Given the description of an element on the screen output the (x, y) to click on. 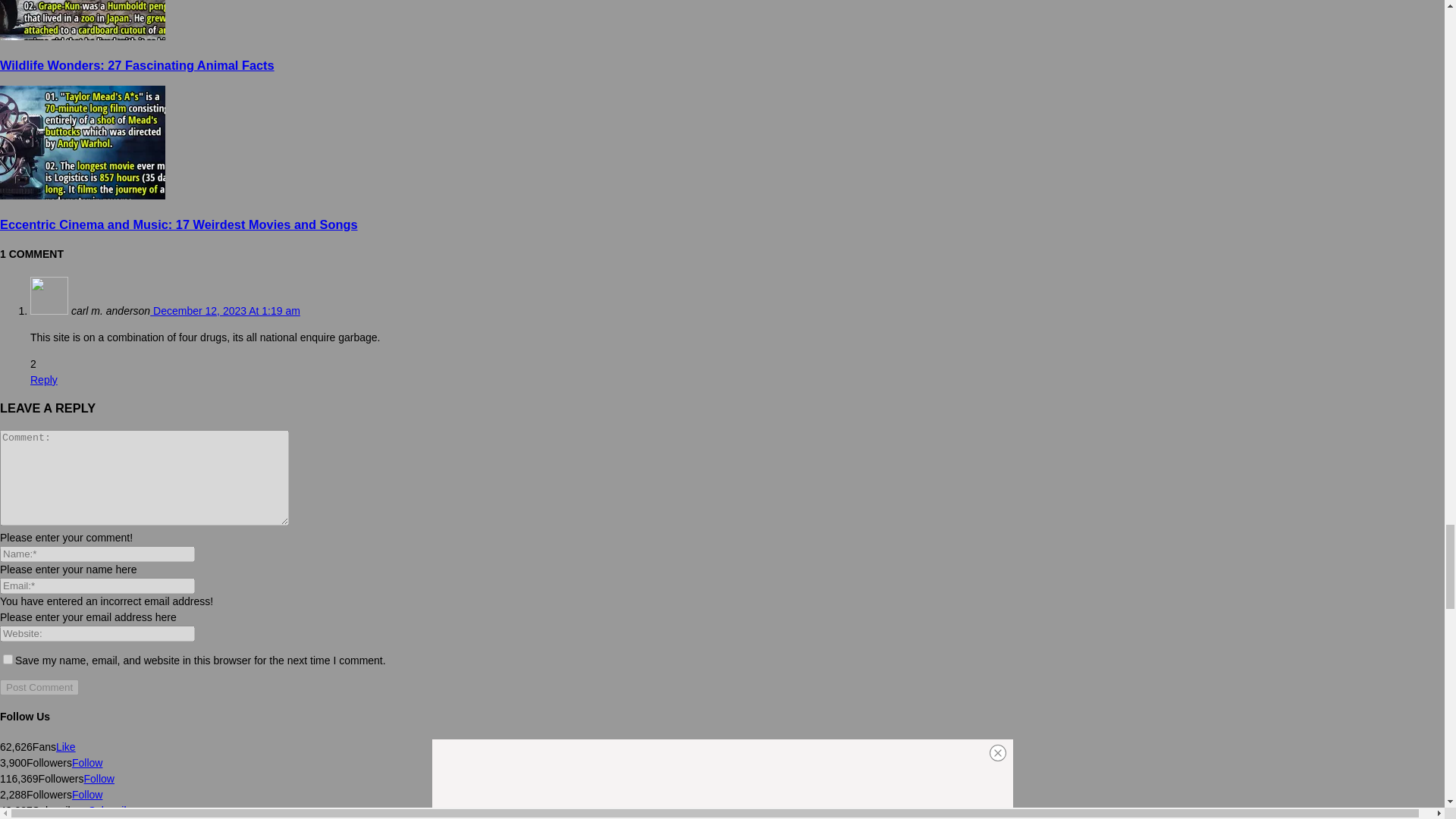
yes (7, 659)
Post Comment (39, 687)
